Given the description of an element on the screen output the (x, y) to click on. 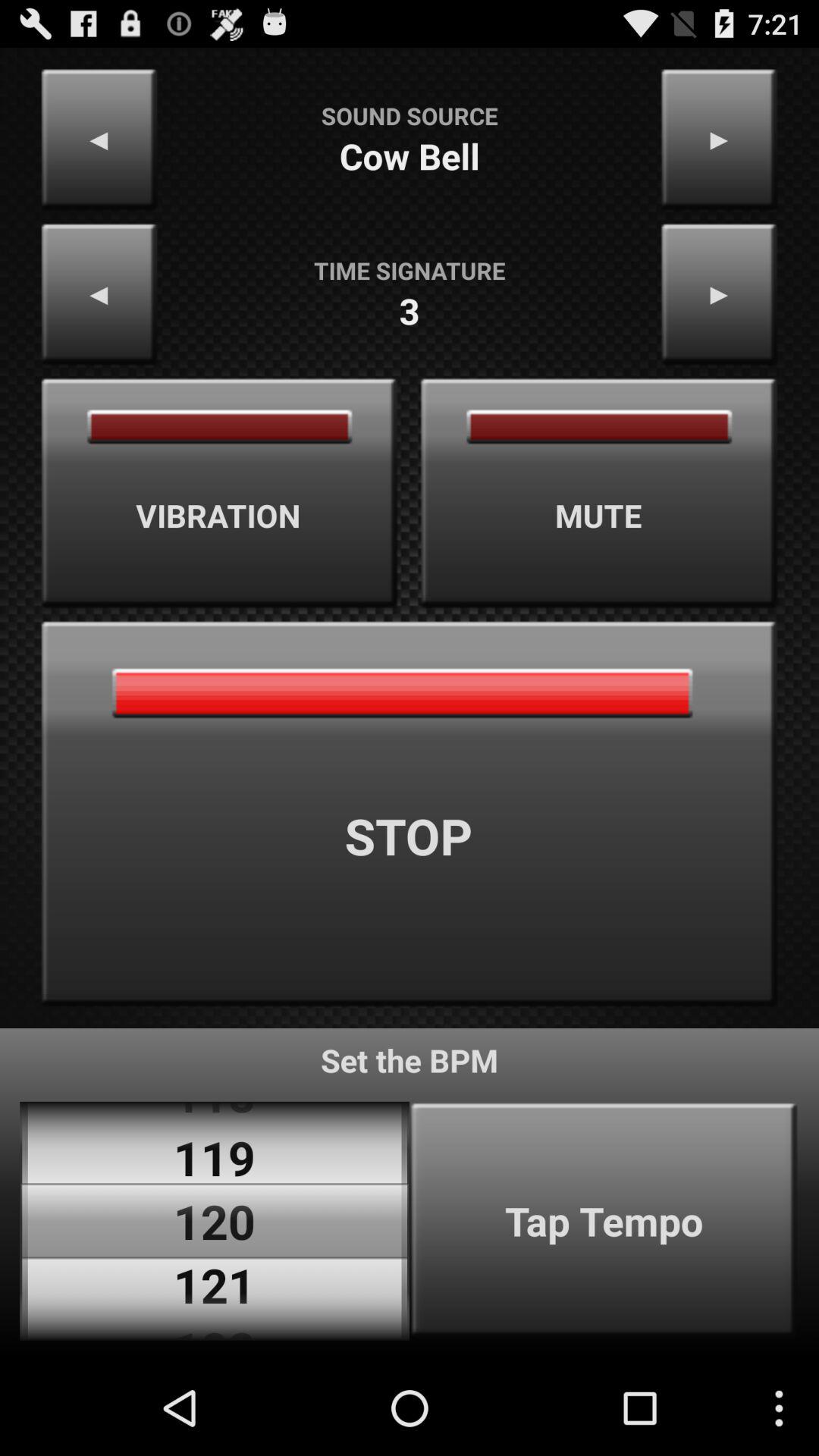
launch the item below the vibration (409, 813)
